Given the description of an element on the screen output the (x, y) to click on. 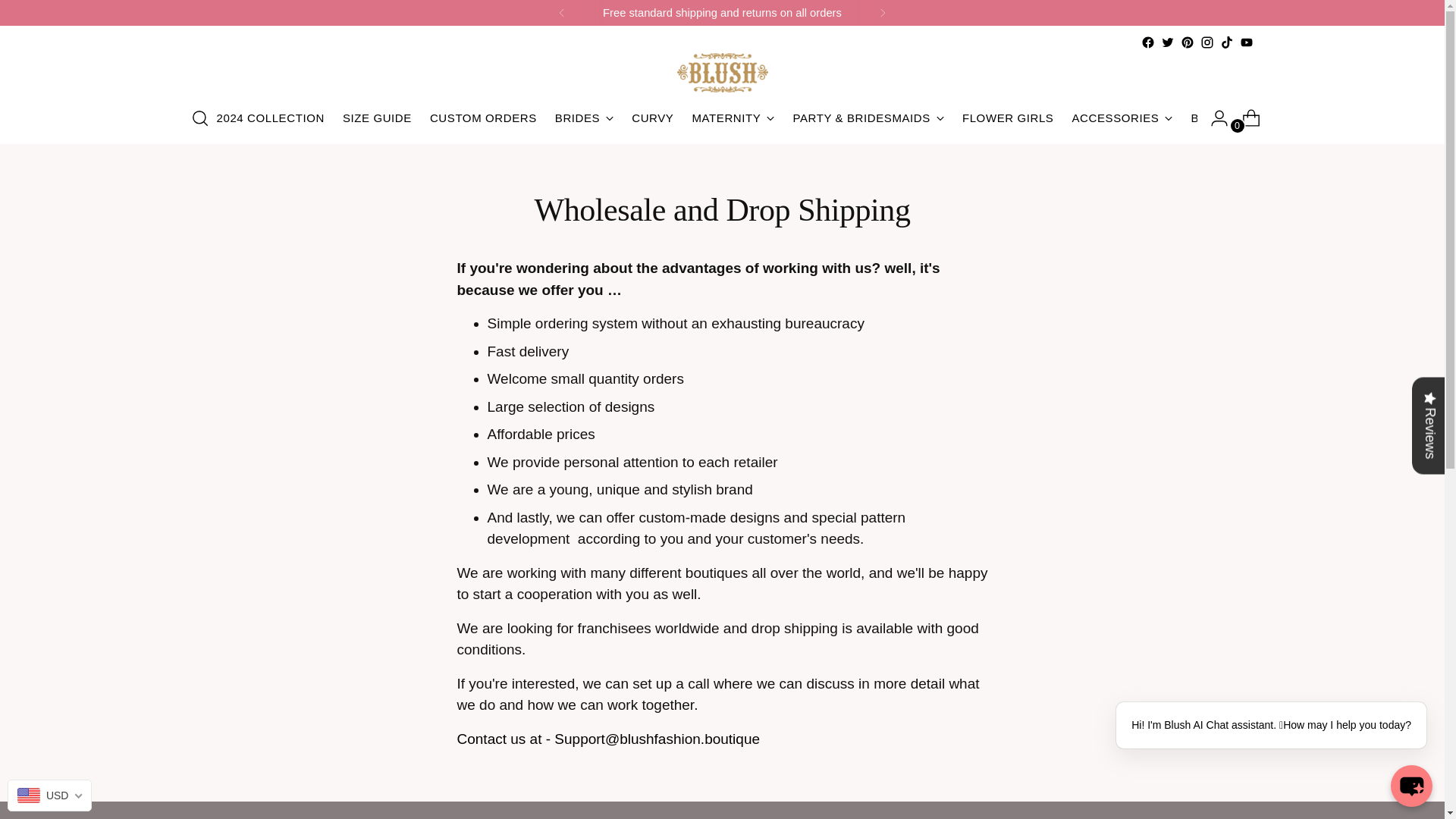
SIZE GUIDE (377, 118)
Blushfashion on Twitter (1166, 42)
Blushfashion on Pinterest (1186, 42)
Blushfashion on YouTube (1245, 42)
2024 COLLECTION (270, 118)
Blushfashion on Facebook (1147, 42)
BRIDES (583, 118)
Previous (561, 12)
MATERNITY (732, 118)
Blushfashion on Tiktok (1226, 42)
CUSTOM ORDERS (483, 118)
Blushfashion on Instagram (1205, 42)
CURVY (651, 118)
FLOWER GIRLS (1008, 118)
ACCESSORIES (1121, 118)
